Given the description of an element on the screen output the (x, y) to click on. 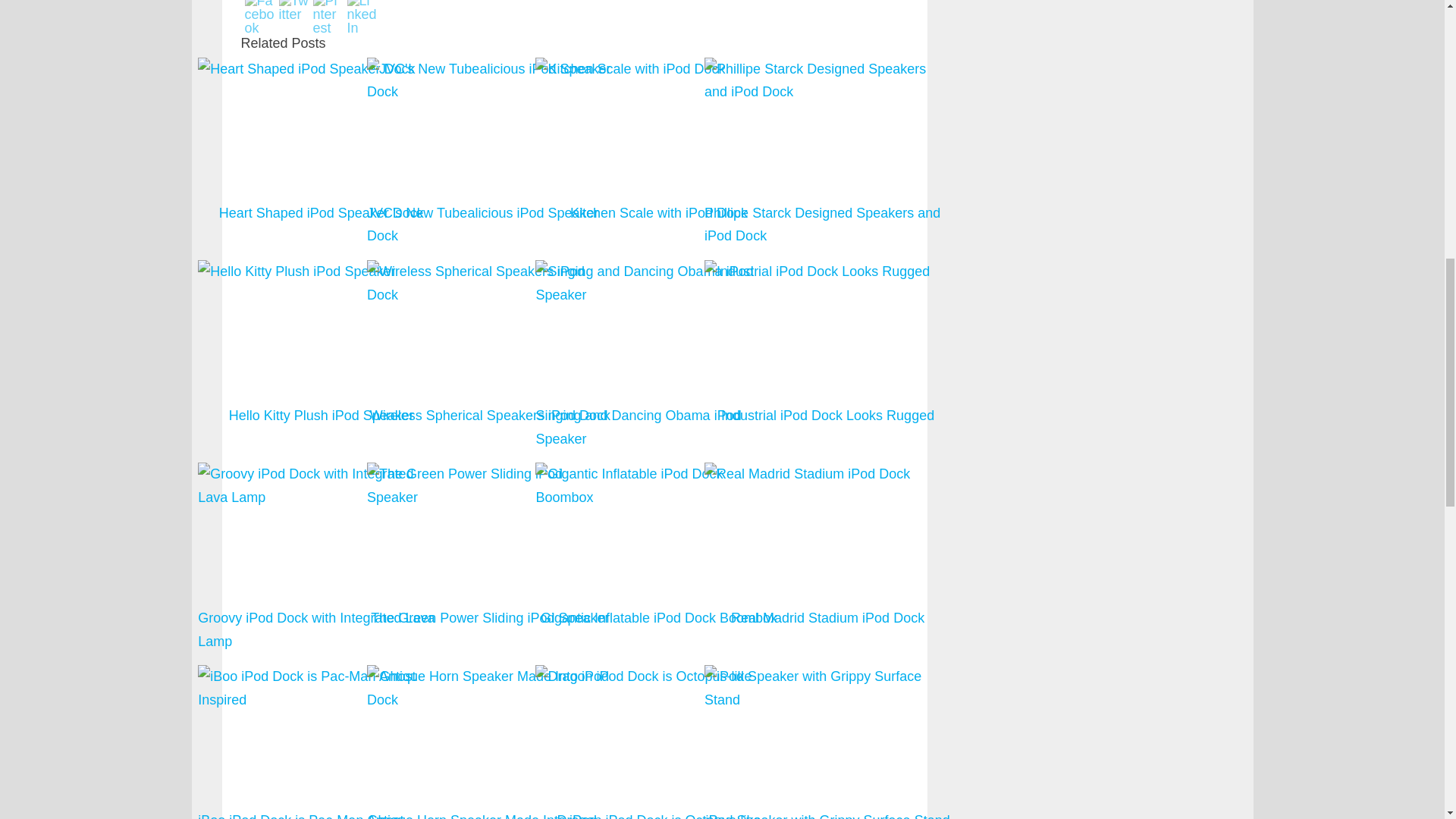
The Green Power Sliding iPod Speaker (490, 557)
Real Madrid Stadium iPod Dock (827, 557)
Wireless Spherical Speakers iPod Dock (489, 283)
Phillipe Starck Designed Speakers and iPod Dock (827, 80)
Hello Kitty Plush iPod Speaker (321, 271)
iPod Speaker with Grippy Surface Stand (827, 740)
Wireless Spherical Speakers iPod Dock (490, 354)
Industrial iPod Dock Looks Rugged (827, 354)
Twitter (293, 10)
Kitchen Scale with iPod Dock (658, 152)
